Given the description of an element on the screen output the (x, y) to click on. 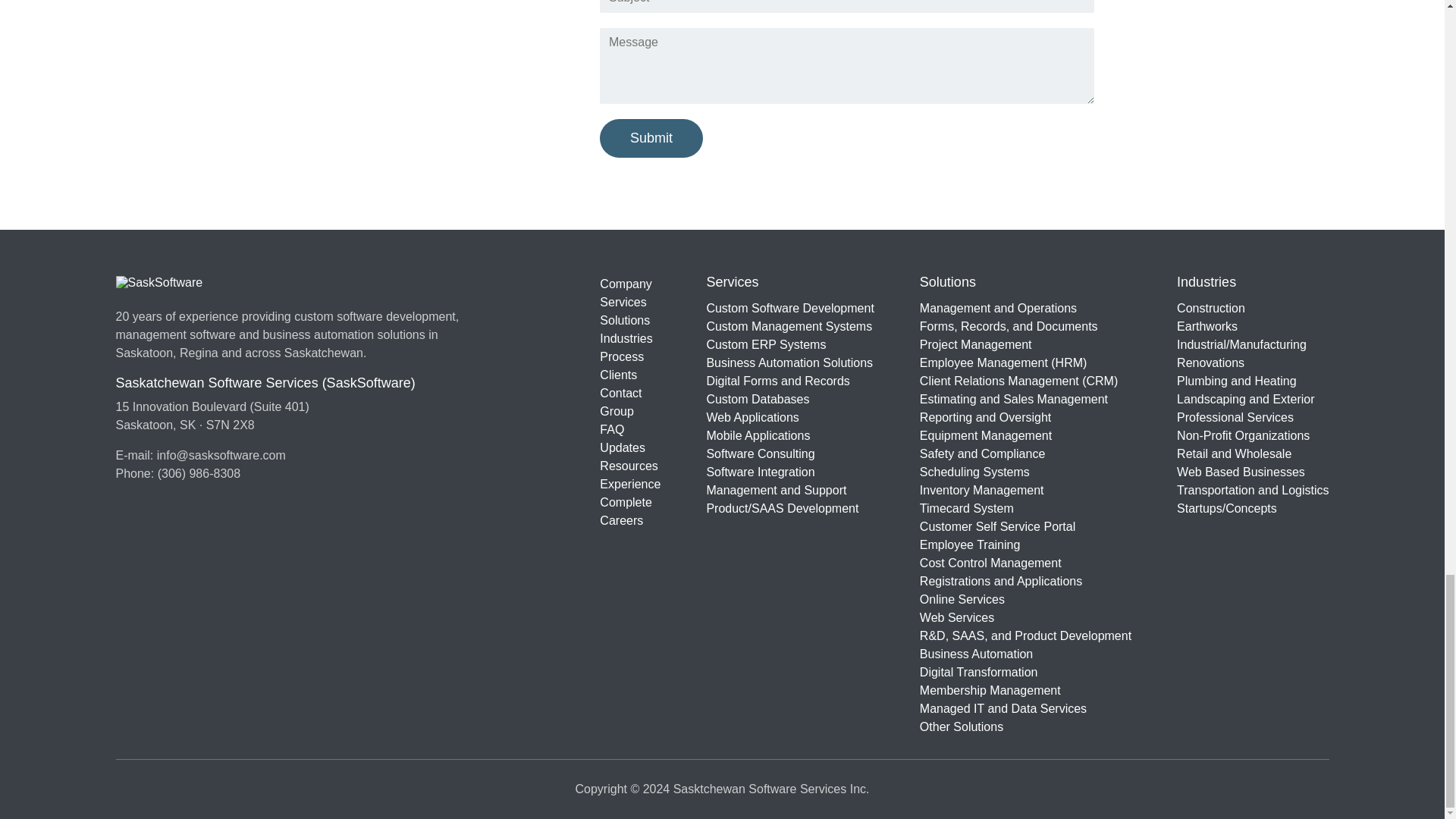
Mobile Applications (789, 434)
Experience (630, 484)
Digital Forms and Records (789, 380)
Updates (630, 447)
Solutions (630, 321)
Services (630, 302)
FAQ (630, 429)
Resources (630, 466)
Industries (630, 339)
Custom ERP Systems (789, 343)
